Given the description of an element on the screen output the (x, y) to click on. 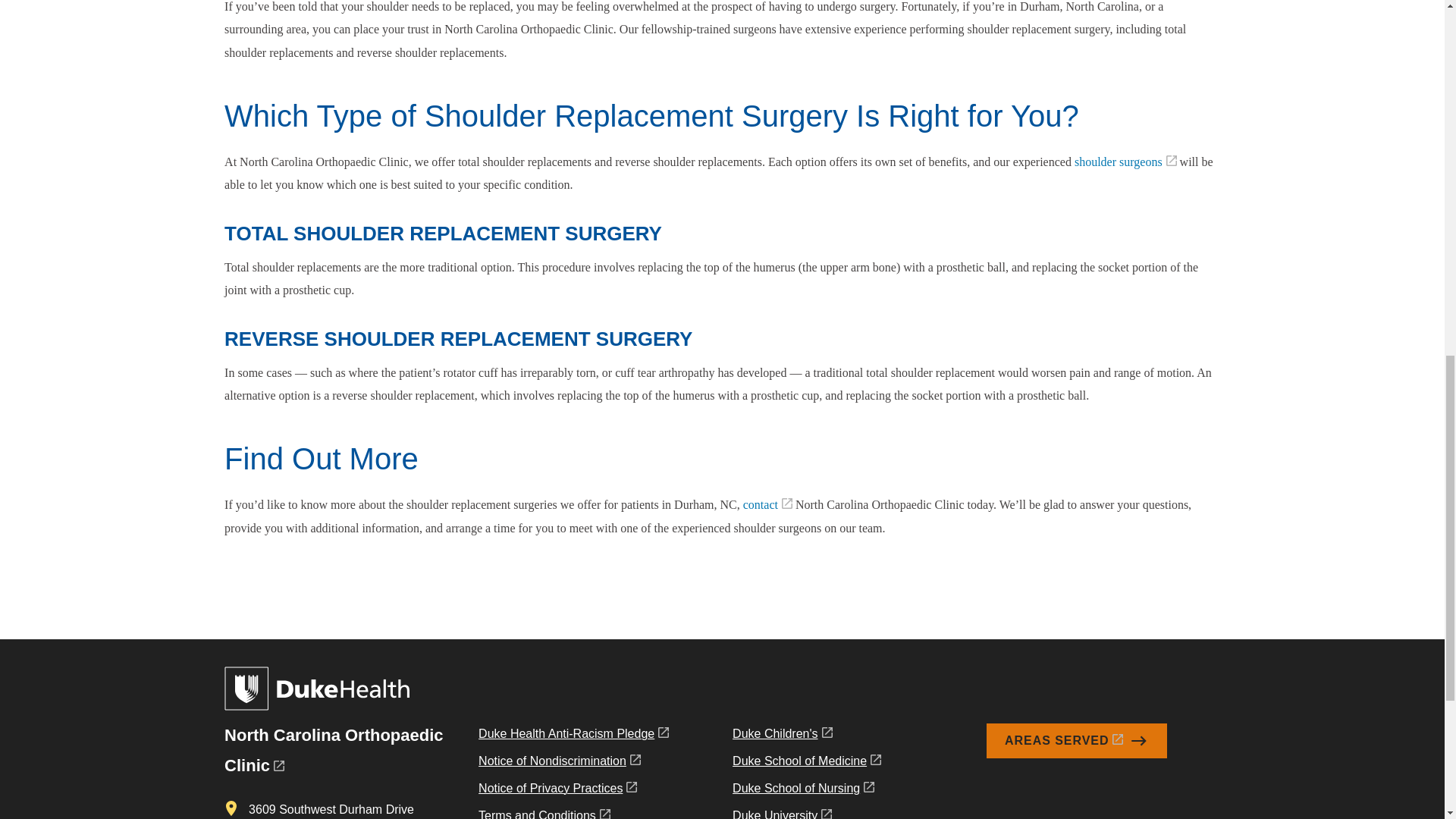
Duke University (806, 812)
Notice of Privacy Practices (573, 791)
Duke Health Anti-Racism Pledge (573, 737)
shoulder surgeons (1125, 161)
North Carolina Orthopaedic Clinic (333, 749)
Duke School of Medicine (806, 764)
Duke Children's (806, 737)
Terms and Conditions (573, 812)
AREAS SERVED (1077, 740)
contact (767, 504)
Duke School of Nursing (806, 791)
Notice of Nondiscrimination (573, 764)
